Given the description of an element on the screen output the (x, y) to click on. 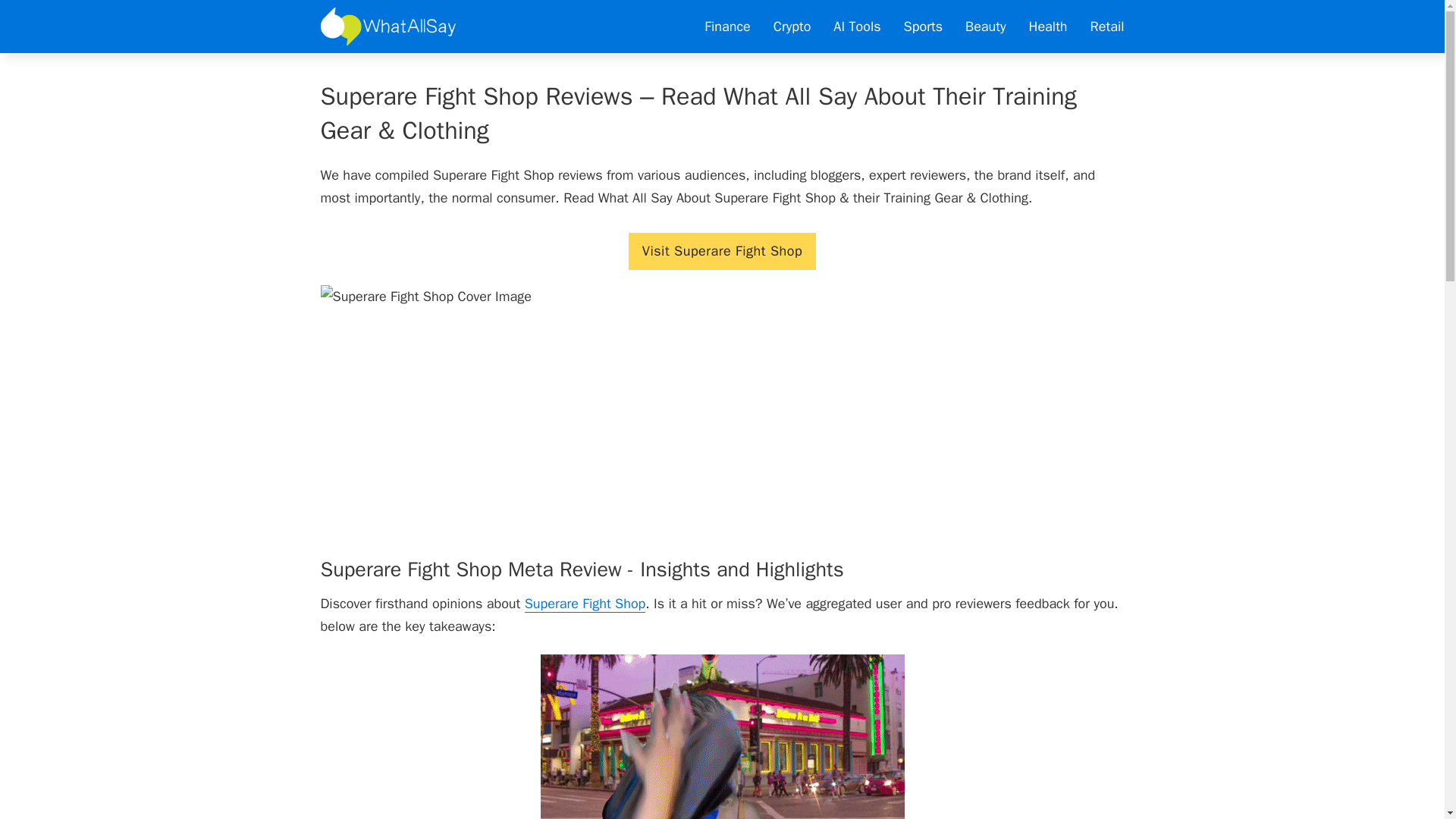
Retail (1107, 26)
Superare Fight Shop (585, 603)
Sports (923, 26)
Visit Superare Fight Shop (721, 251)
Beauty (985, 26)
AI Tools (856, 26)
Finance (726, 26)
Crypto (791, 26)
